Given the description of an element on the screen output the (x, y) to click on. 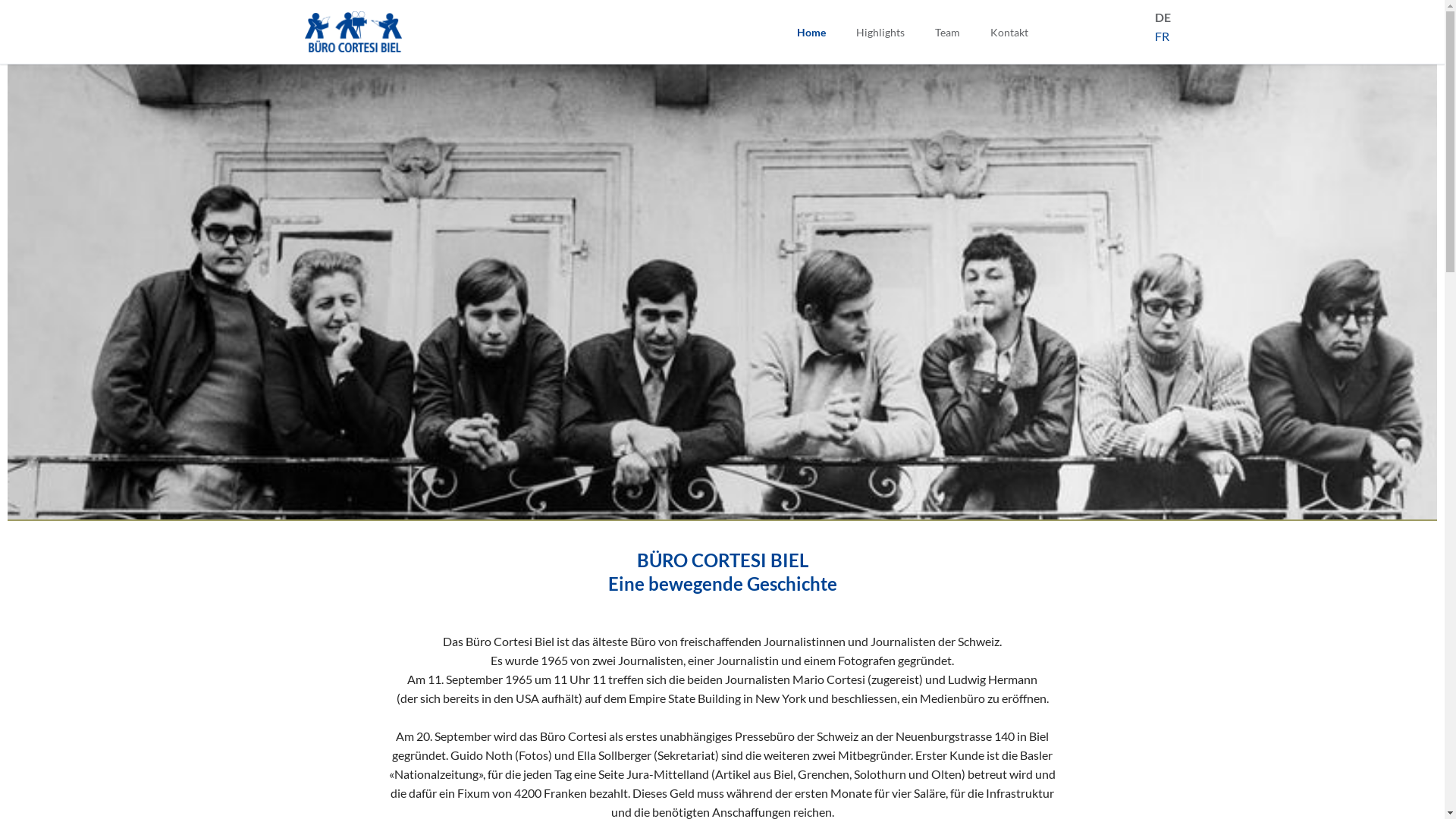
FR Element type: text (1161, 35)
Team Element type: text (946, 31)
Highlights Element type: text (879, 31)
Kontakt Element type: text (1009, 31)
